Given the description of an element on the screen output the (x, y) to click on. 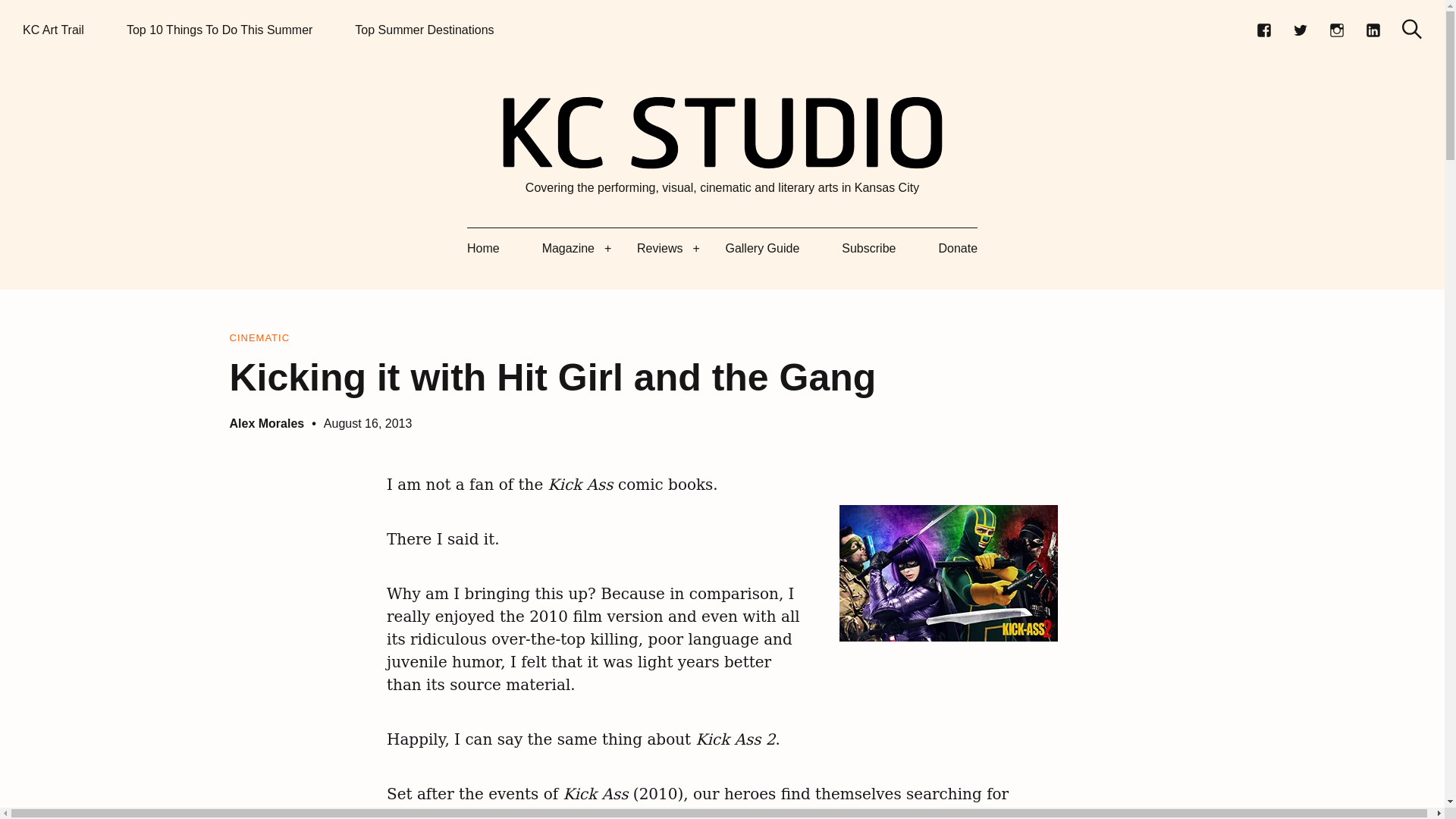
Donate (956, 248)
Subscribe (868, 248)
Search (1412, 28)
Alex Morales (266, 422)
Instagram (1336, 29)
KC Art Trail (53, 29)
Top Summer Destinations (424, 29)
Magazine (567, 248)
Reviews (659, 248)
Facebook (1263, 29)
Top 10 Things To Do This Summer (219, 29)
Cinematic (258, 337)
CINEMATIC (258, 337)
Twitter (1299, 29)
Gallery Guide (762, 248)
